Given the description of an element on the screen output the (x, y) to click on. 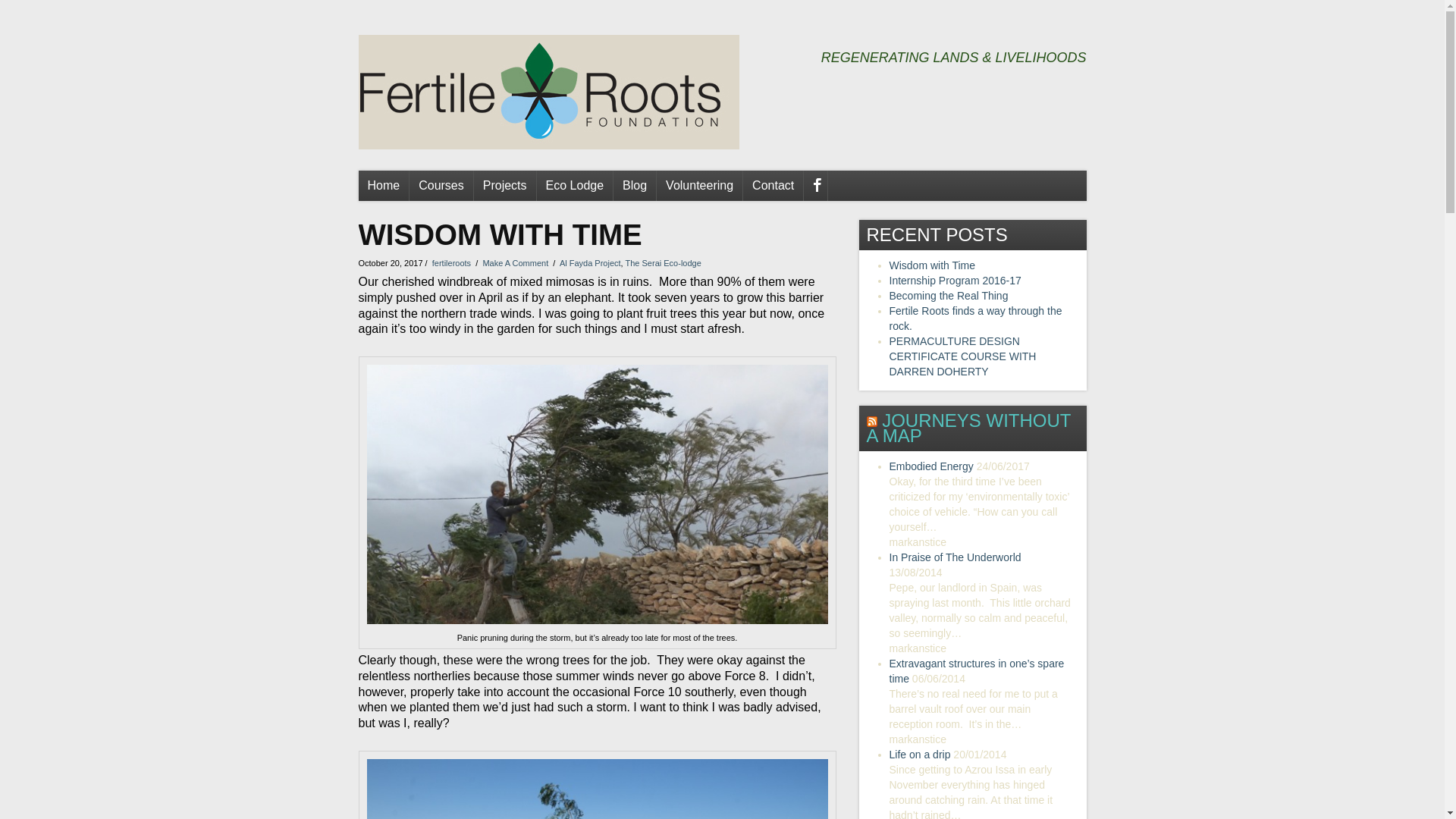
Posts by fertileroots (451, 262)
Blog (634, 185)
Eco Lodge (574, 185)
Contact (772, 185)
Make A Comment (514, 262)
Home (383, 185)
Projects (504, 185)
Volunteering (699, 185)
fertileroots (451, 262)
The Serai Eco-lodge (663, 262)
